Given the description of an element on the screen output the (x, y) to click on. 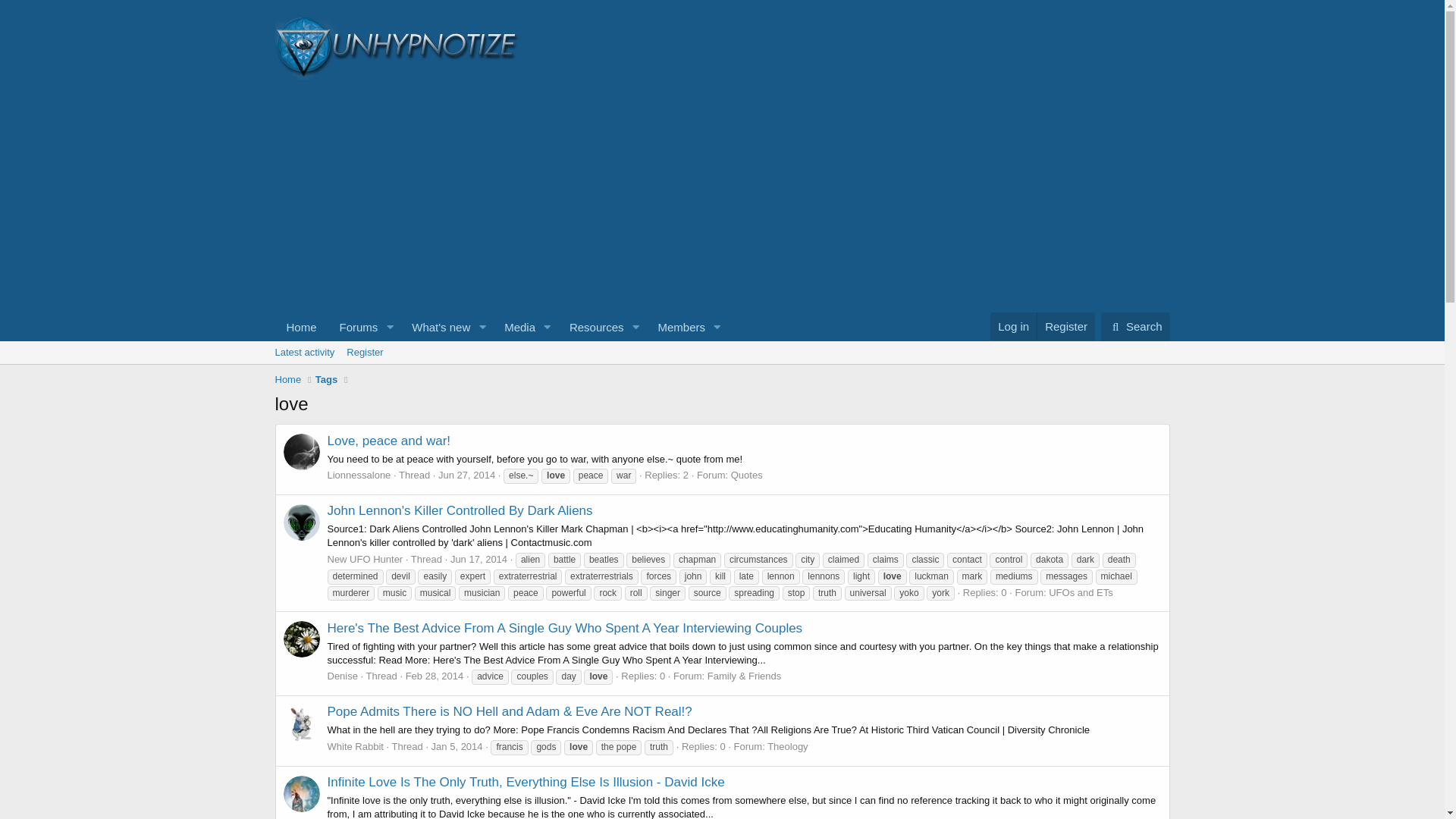
Jun 27, 2014 at 2:33 PM (720, 369)
Members (500, 343)
Feb 28, 2014 at 2:38 PM (466, 474)
Register (676, 326)
Media (435, 675)
What's new (500, 326)
Home (1065, 326)
Log in (515, 326)
Resources (435, 326)
Forums (301, 326)
Jan 5, 2014 at 3:26 PM (1013, 326)
Search (591, 326)
